Given the description of an element on the screen output the (x, y) to click on. 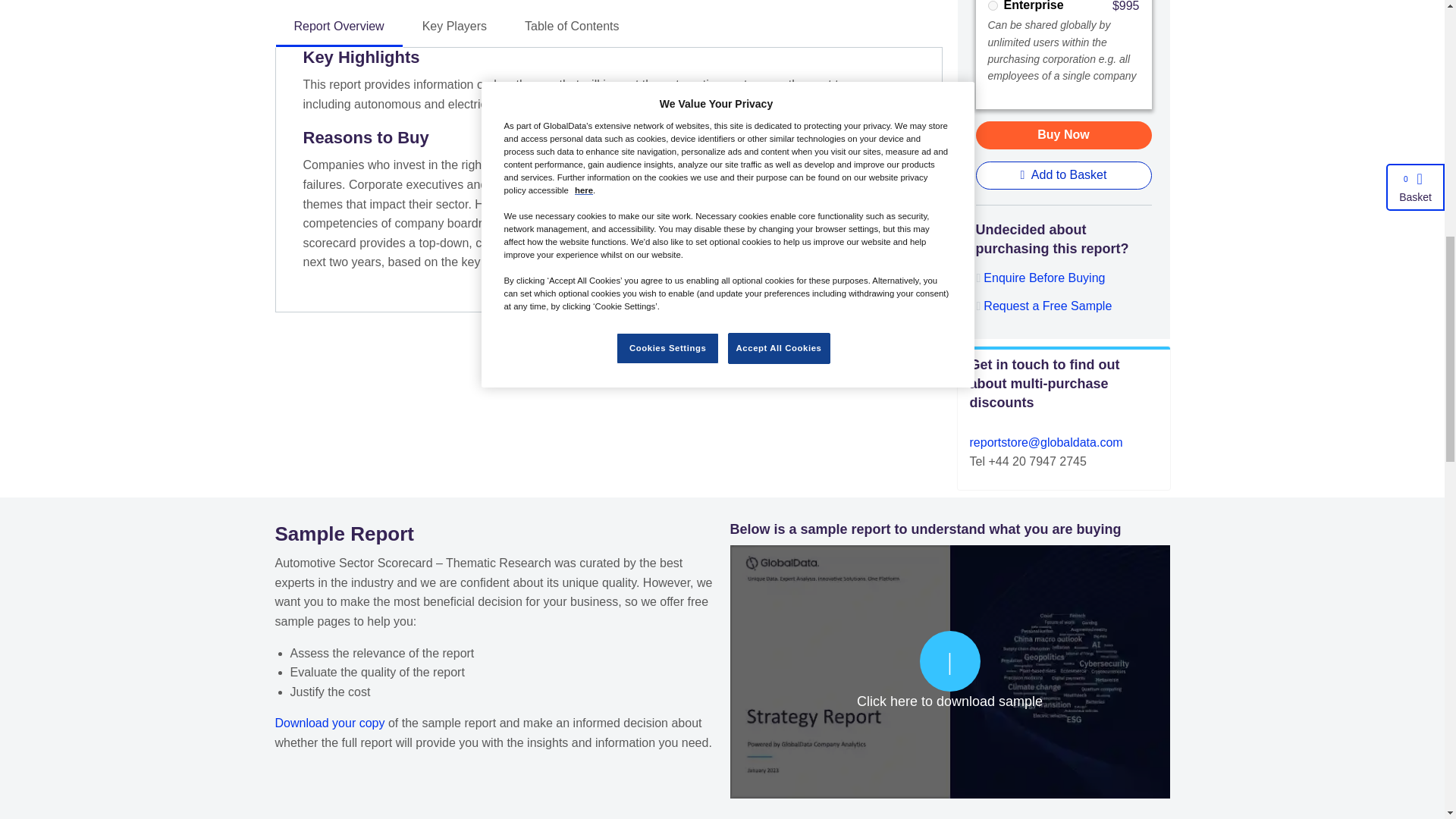
download (329, 722)
1317669 (992, 5)
download (949, 670)
